Given the description of an element on the screen output the (x, y) to click on. 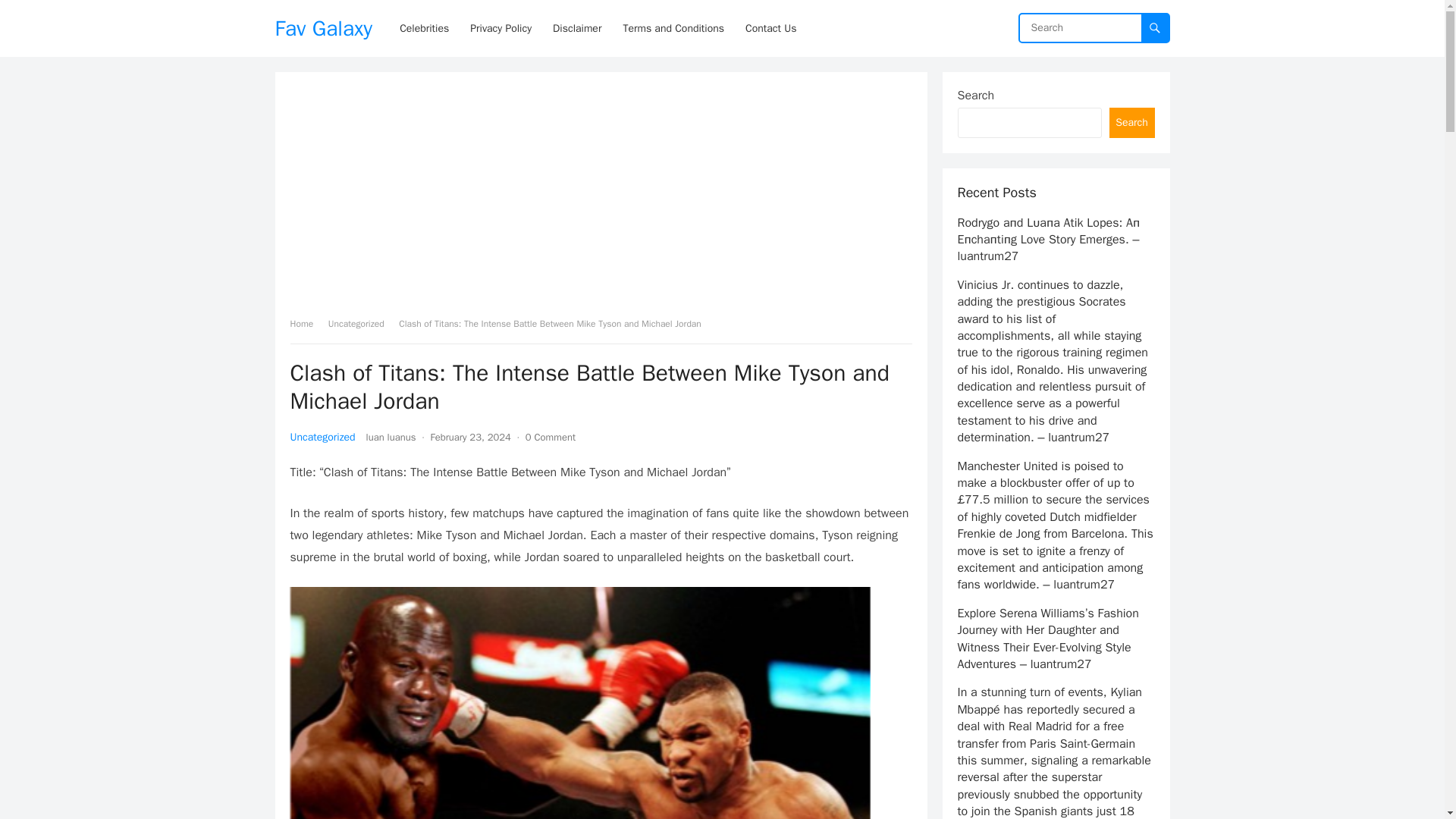
Disclaimer (576, 28)
Uncategorized (361, 323)
Fav Galaxy (323, 28)
Uncategorized (322, 436)
Home (306, 323)
Celebrities (424, 28)
Privacy Policy (500, 28)
0 Comment (550, 436)
luan luanus (391, 436)
Terms and Conditions (672, 28)
Posts by luan luanus (391, 436)
Contact Us (770, 28)
